Given the description of an element on the screen output the (x, y) to click on. 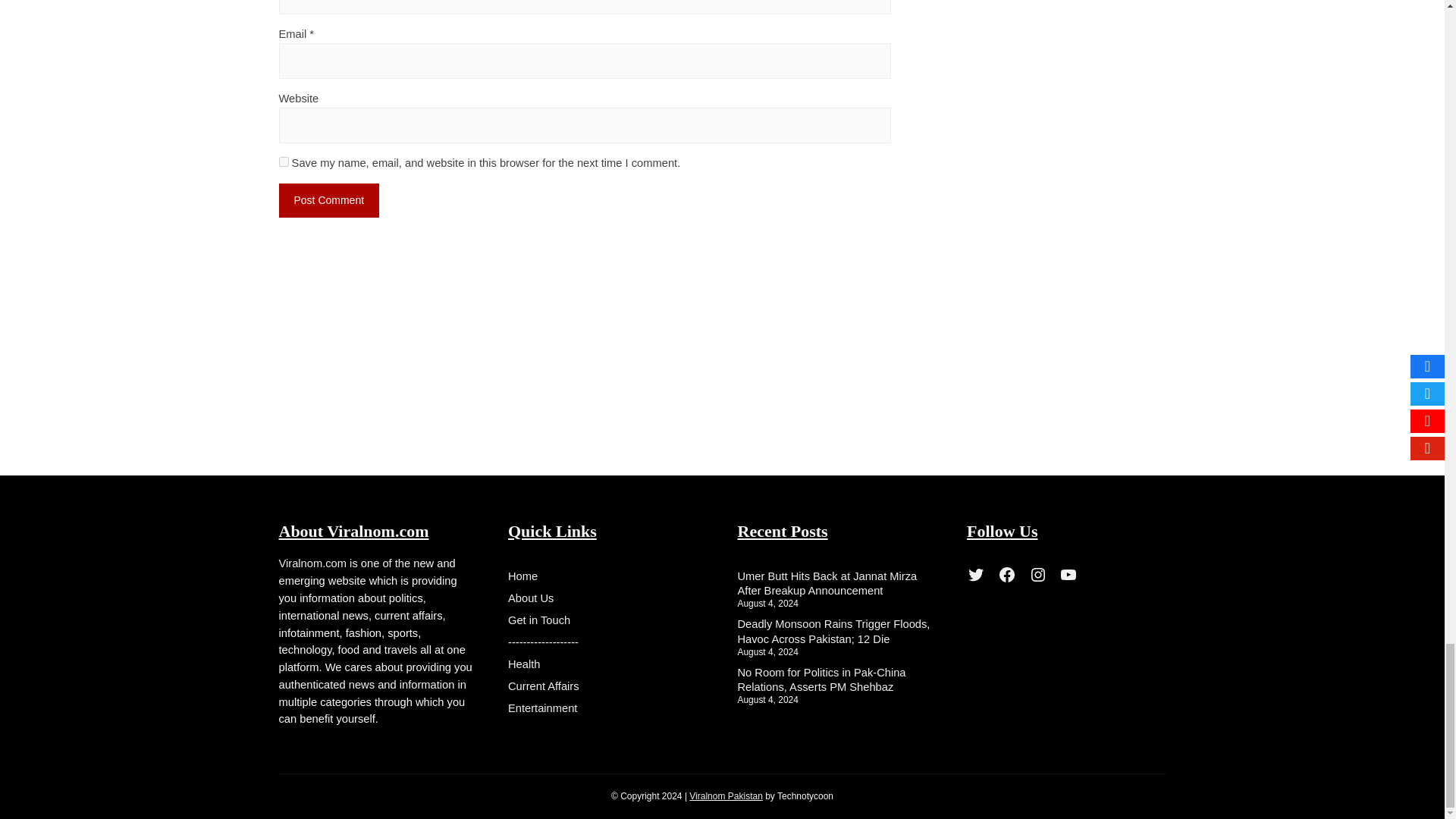
yes (283, 162)
Post Comment (329, 200)
Copyright 2024 (725, 796)
